Given the description of an element on the screen output the (x, y) to click on. 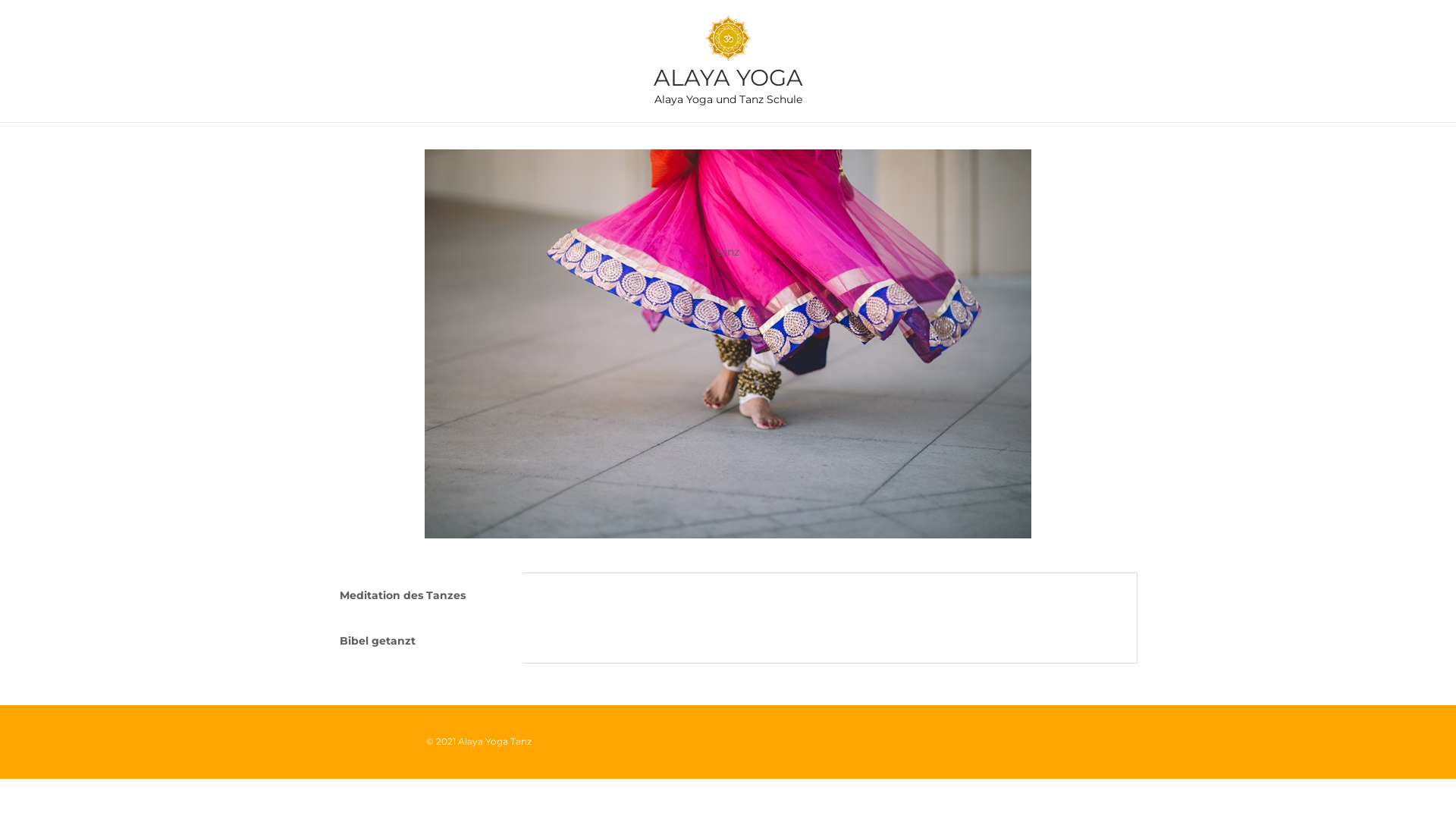
ALAYA YOGA Element type: text (728, 77)
